Given the description of an element on the screen output the (x, y) to click on. 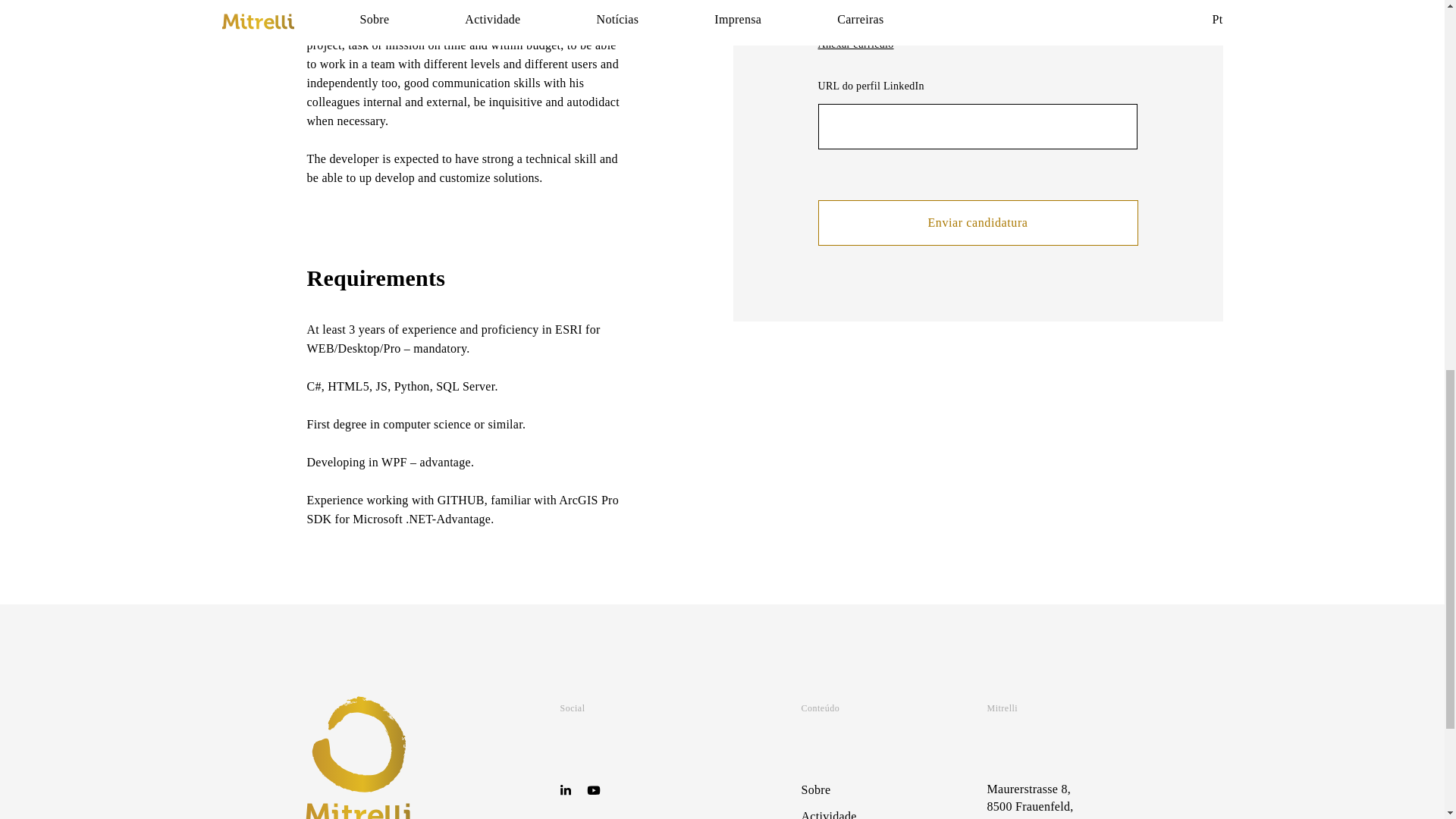
Enviar candidatura (976, 222)
Sobre (814, 789)
Enviar candidatura (976, 222)
Actividade (828, 814)
